Given the description of an element on the screen output the (x, y) to click on. 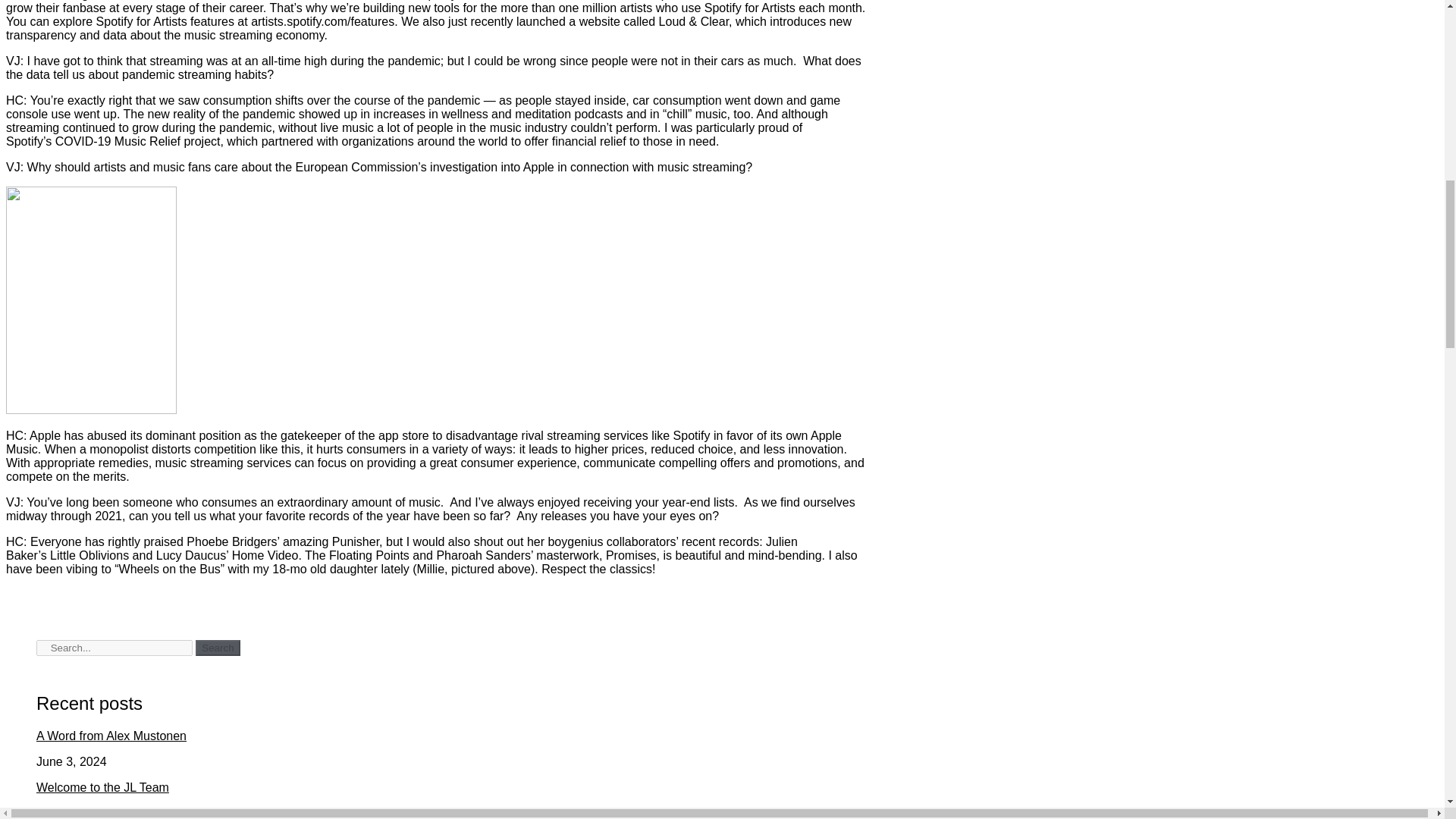
Search (217, 647)
Search (114, 647)
A Word from Alex Mustonen (111, 735)
Search (217, 647)
Welcome to the JL Team (102, 787)
